Given the description of an element on the screen output the (x, y) to click on. 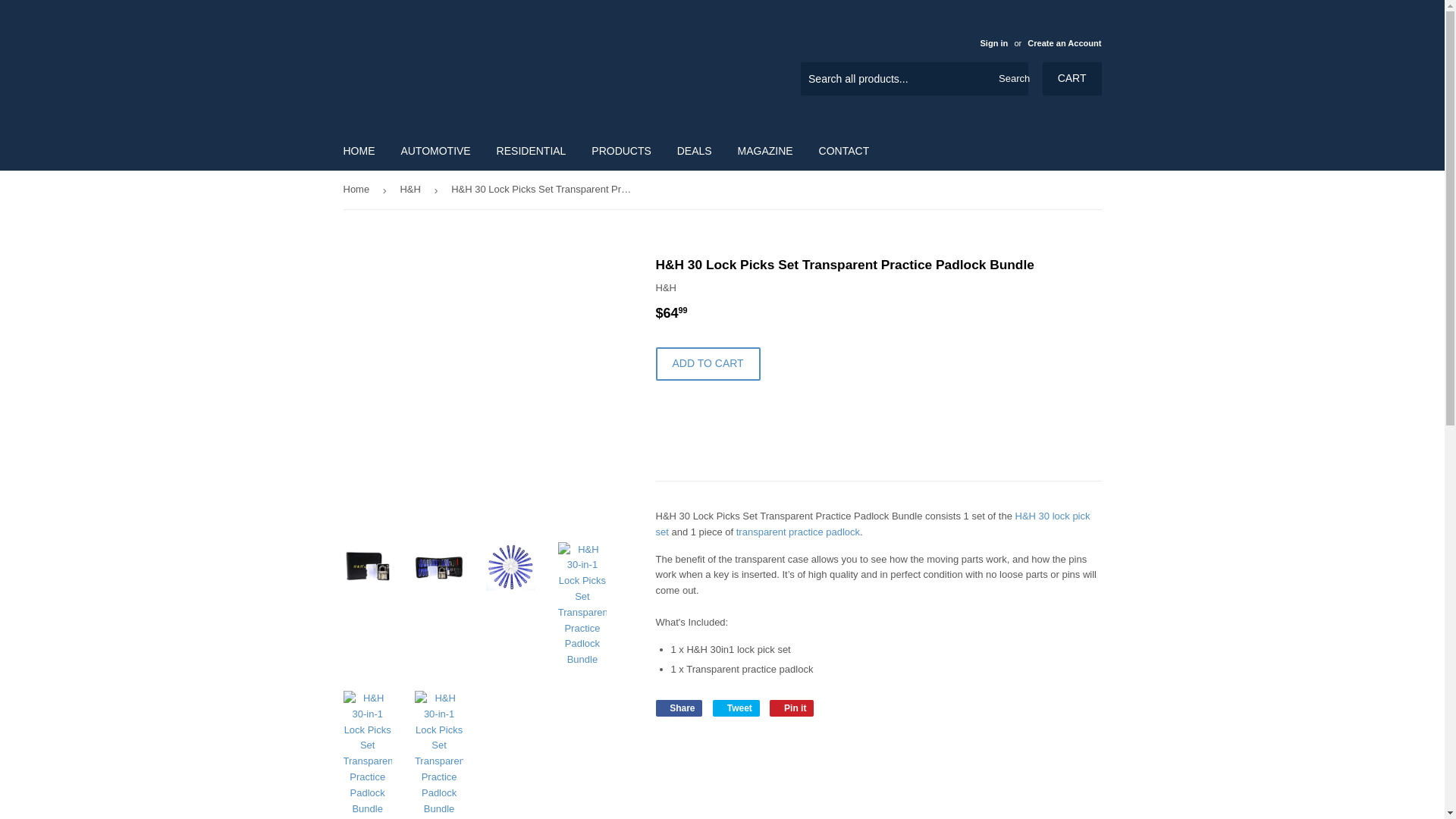
Create an Account (1063, 42)
Sign in (993, 42)
CART (1072, 78)
Search (1010, 79)
Tweet on Twitter (736, 708)
Pin on Pinterest (791, 708)
Share on Facebook (678, 708)
Clear Transparent Padlock Practice Lock (798, 531)
